Given the description of an element on the screen output the (x, y) to click on. 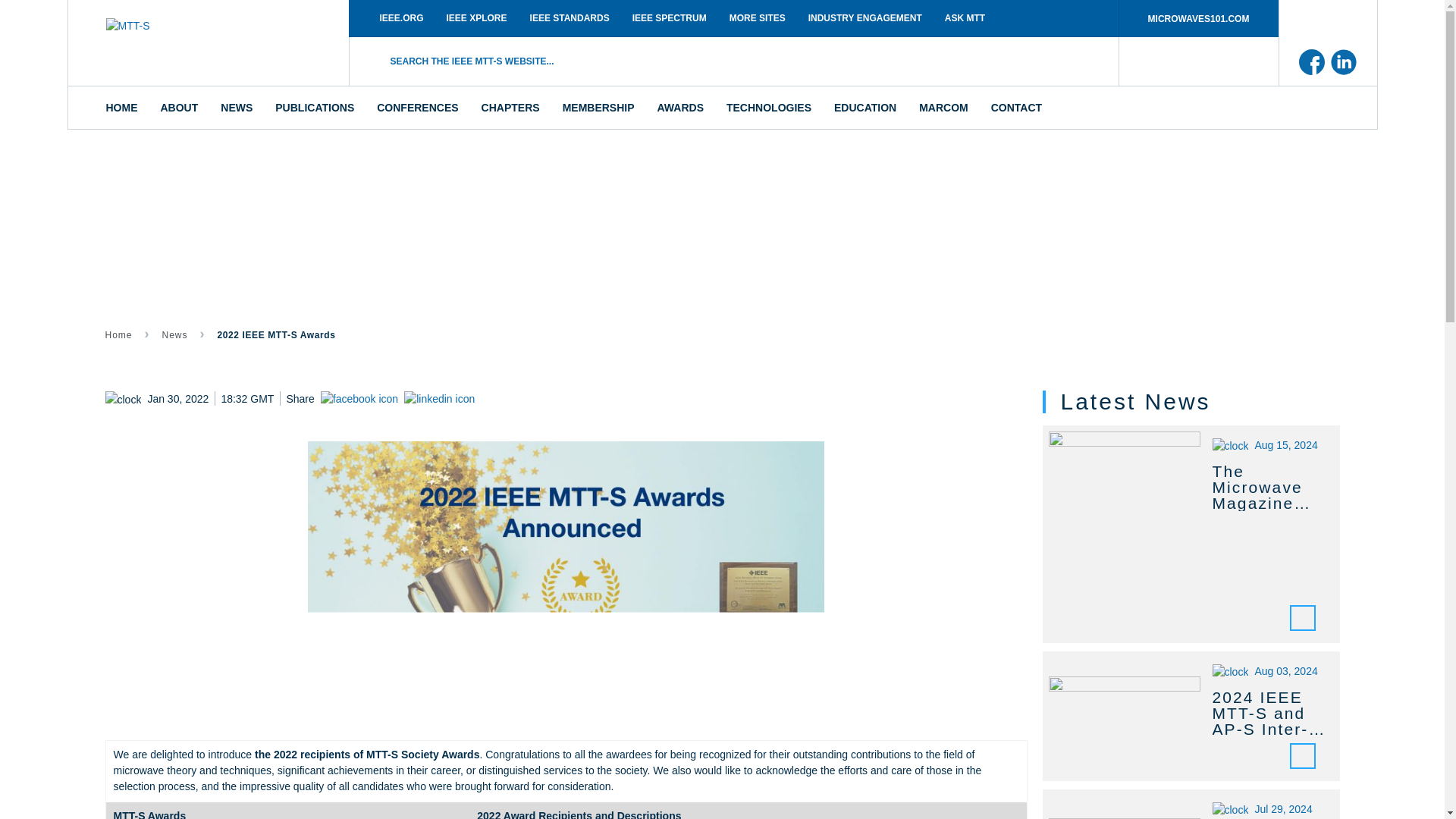
IEEE SPECTRUM (669, 17)
IEEE.ORG (400, 17)
ABOUT (179, 107)
IEEE STANDARDS (569, 17)
News (174, 335)
ASK MTT (964, 17)
MICROWAVES101.COM (1198, 18)
MORE SITES (757, 17)
INDUSTRY ENGAGEMENT (865, 17)
MTT-S (205, 43)
